Given the description of an element on the screen output the (x, y) to click on. 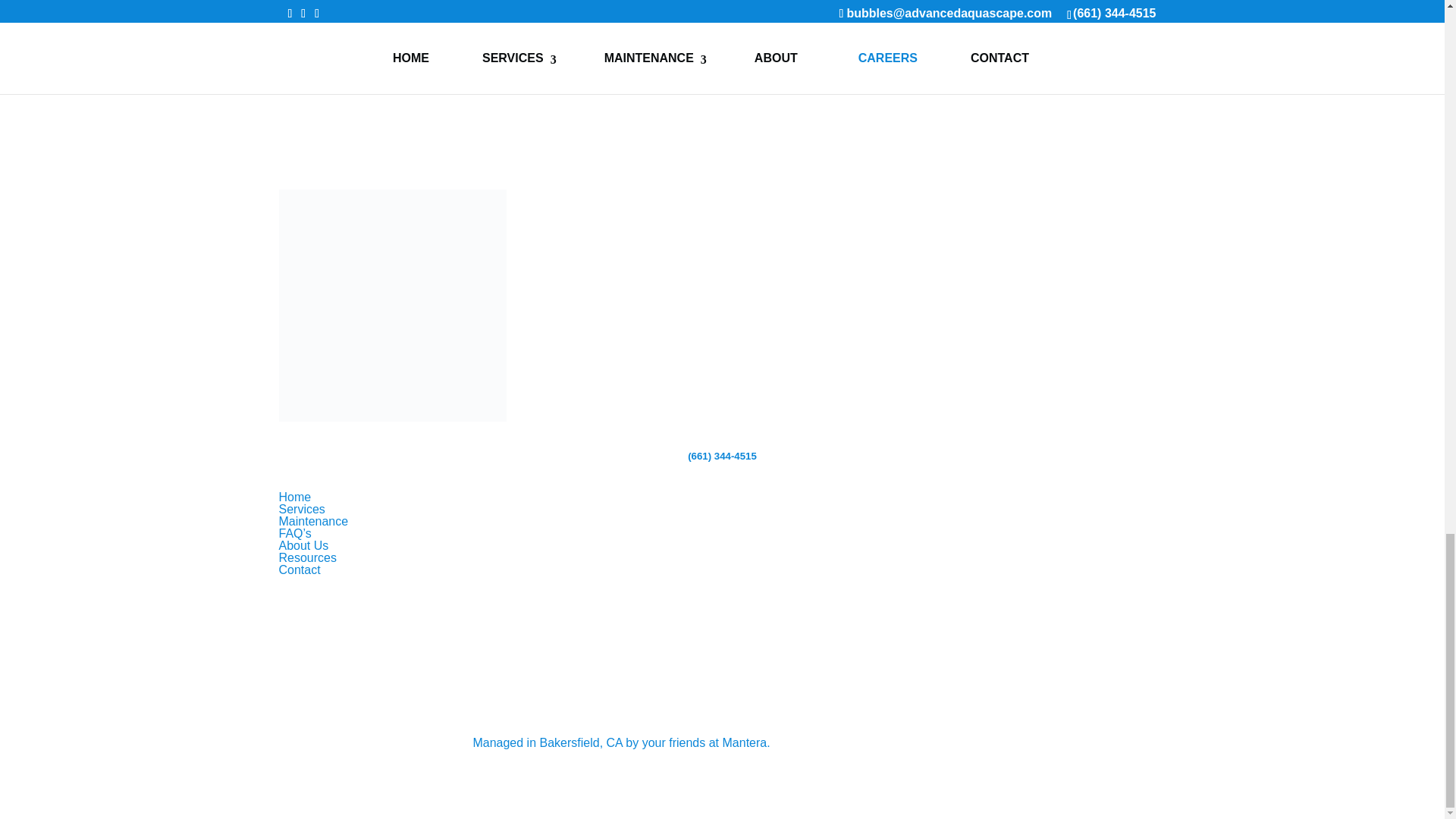
Call Now (770, 1)
Resources (307, 557)
Home (295, 496)
Contact (299, 569)
Services (301, 508)
About Us (304, 545)
Maintenance (314, 521)
footer-logo (392, 305)
Start your Aquarium (848, 1)
Managed in Bakersfield, CA by your friends at Mantera. (620, 742)
